Given the description of an element on the screen output the (x, y) to click on. 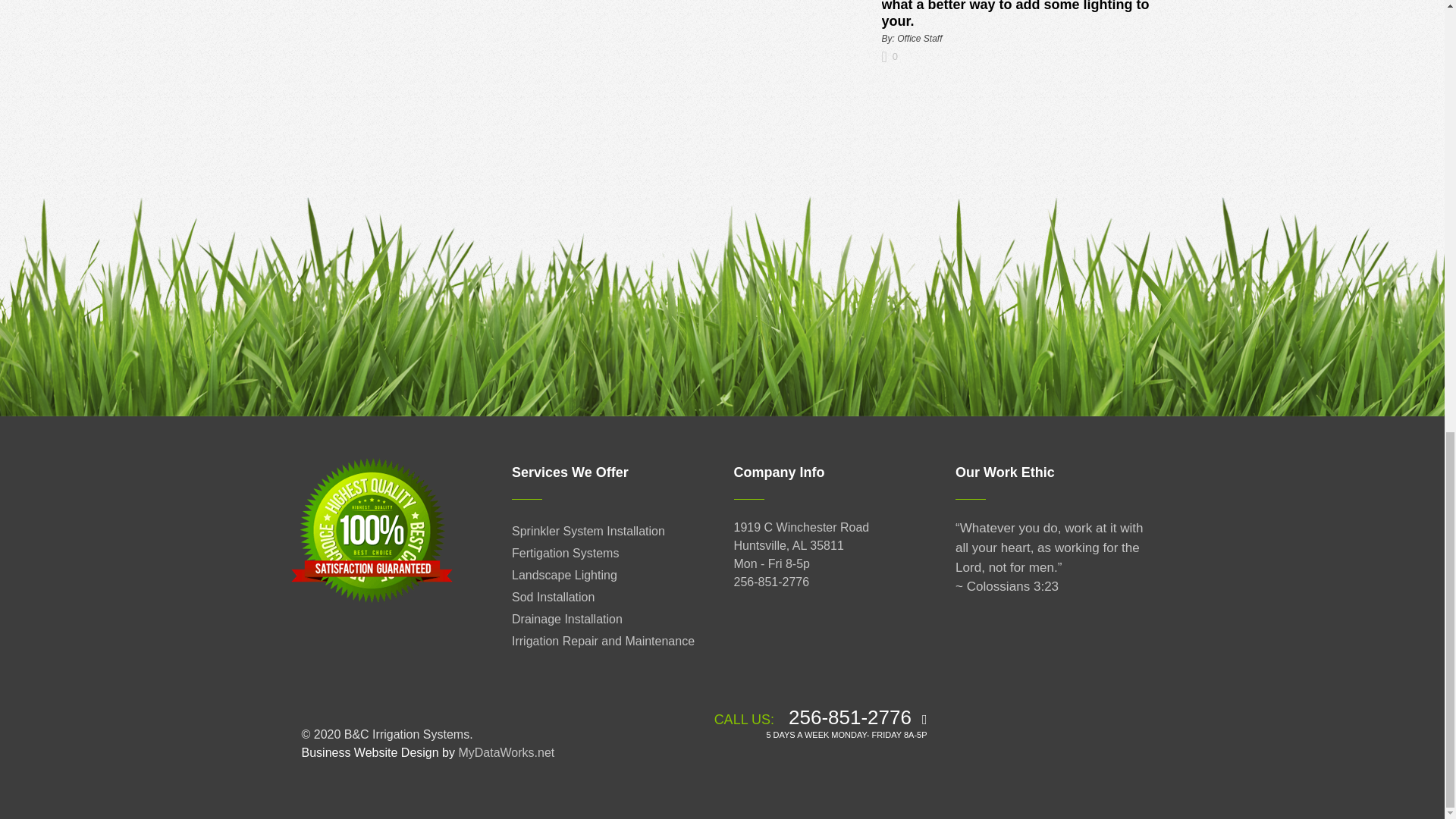
Landscape Lighting (564, 574)
Sprinkler System Installation (588, 530)
Fertigation Systems (565, 553)
